Given the description of an element on the screen output the (x, y) to click on. 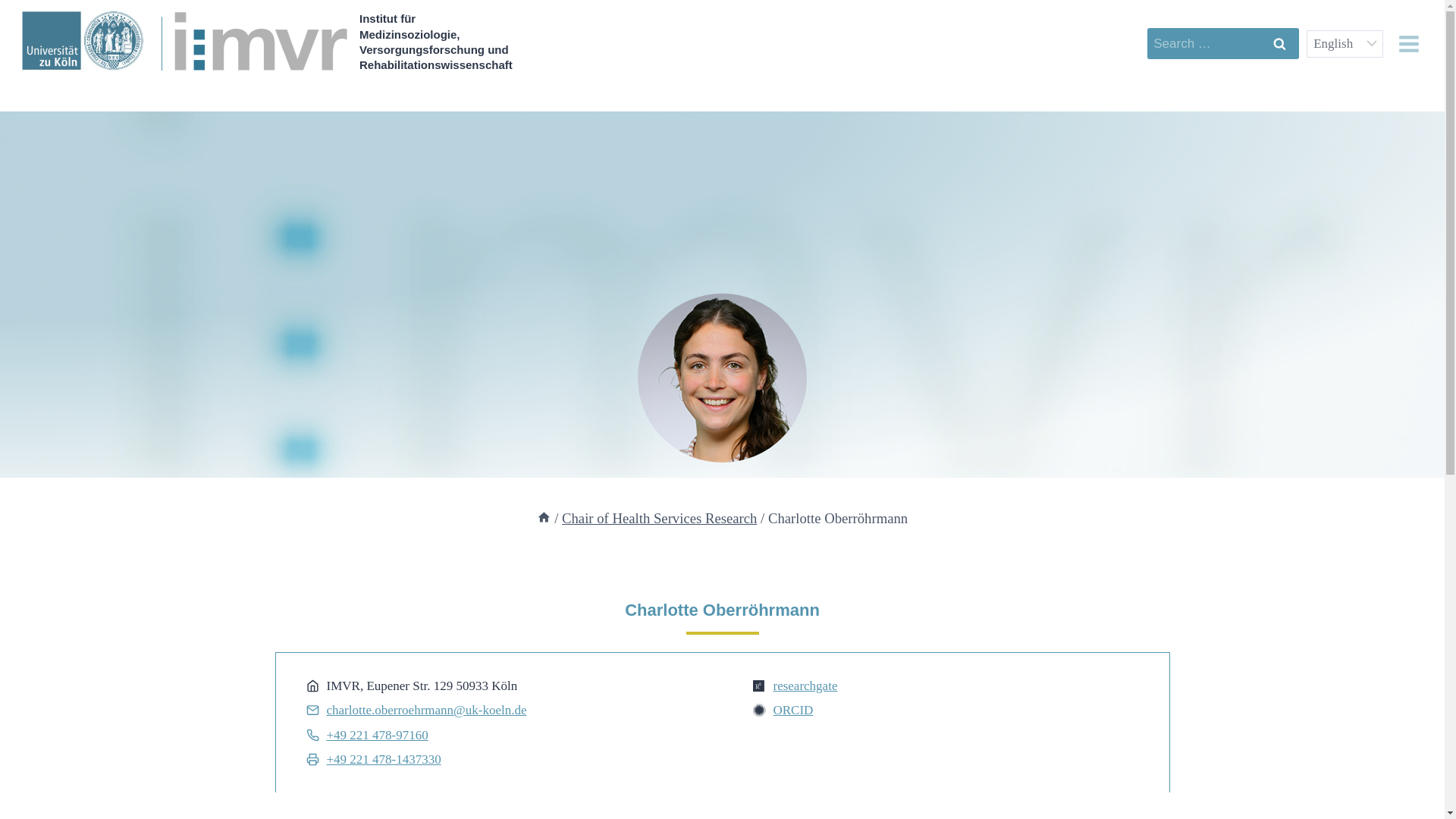
researchgate (805, 685)
Search (1279, 42)
Search (1279, 42)
ORCID (793, 709)
Chair of Health Services Research (659, 518)
Search (1279, 42)
Home (544, 518)
